Given the description of an element on the screen output the (x, y) to click on. 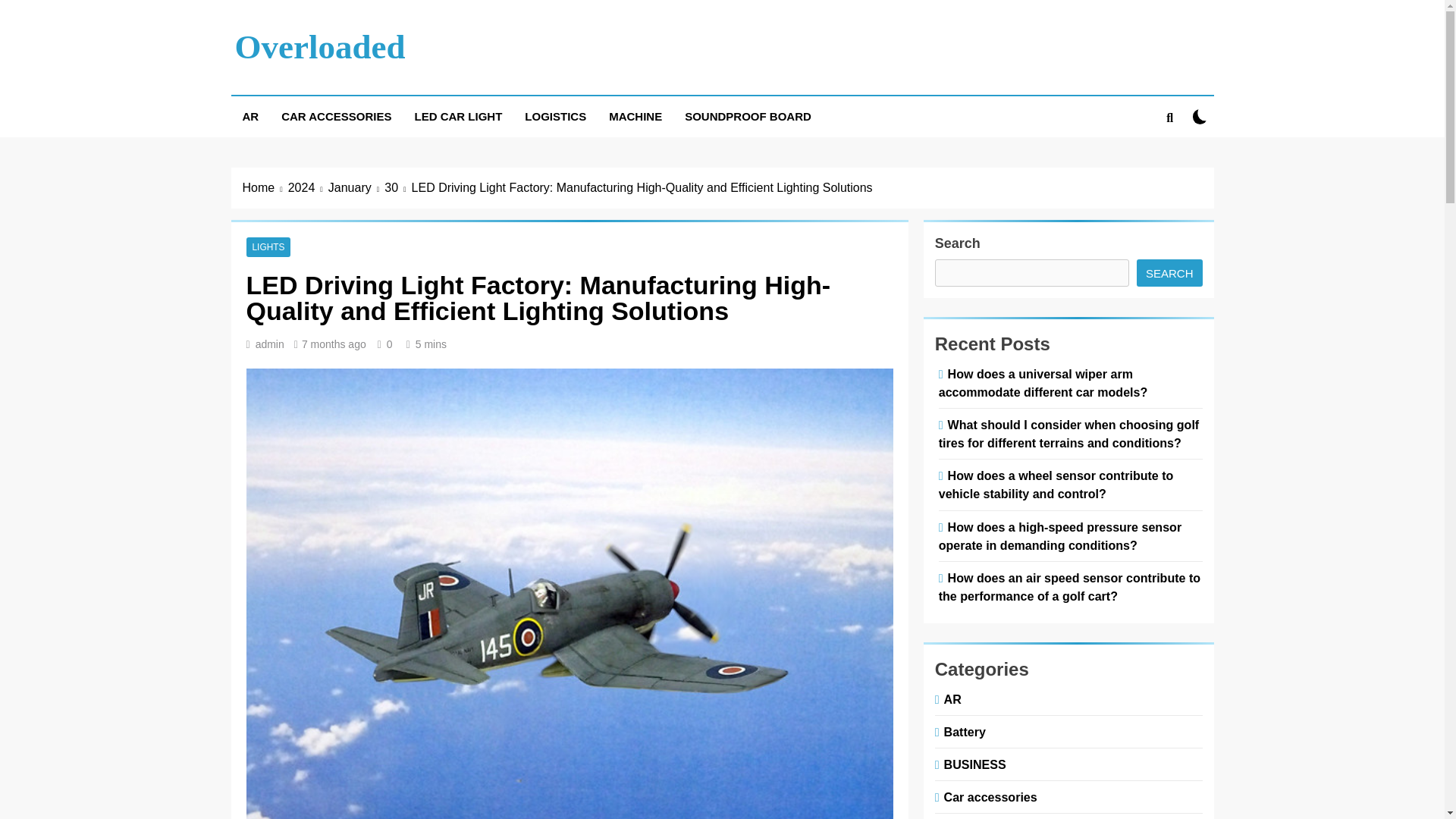
on (1199, 115)
LOGISTICS (554, 116)
January (356, 188)
AR (249, 116)
LIGHTS (267, 246)
Overloaded (320, 46)
7 months ago (333, 344)
MACHINE (634, 116)
SOUNDPROOF BOARD (747, 116)
admin (269, 344)
